Given the description of an element on the screen output the (x, y) to click on. 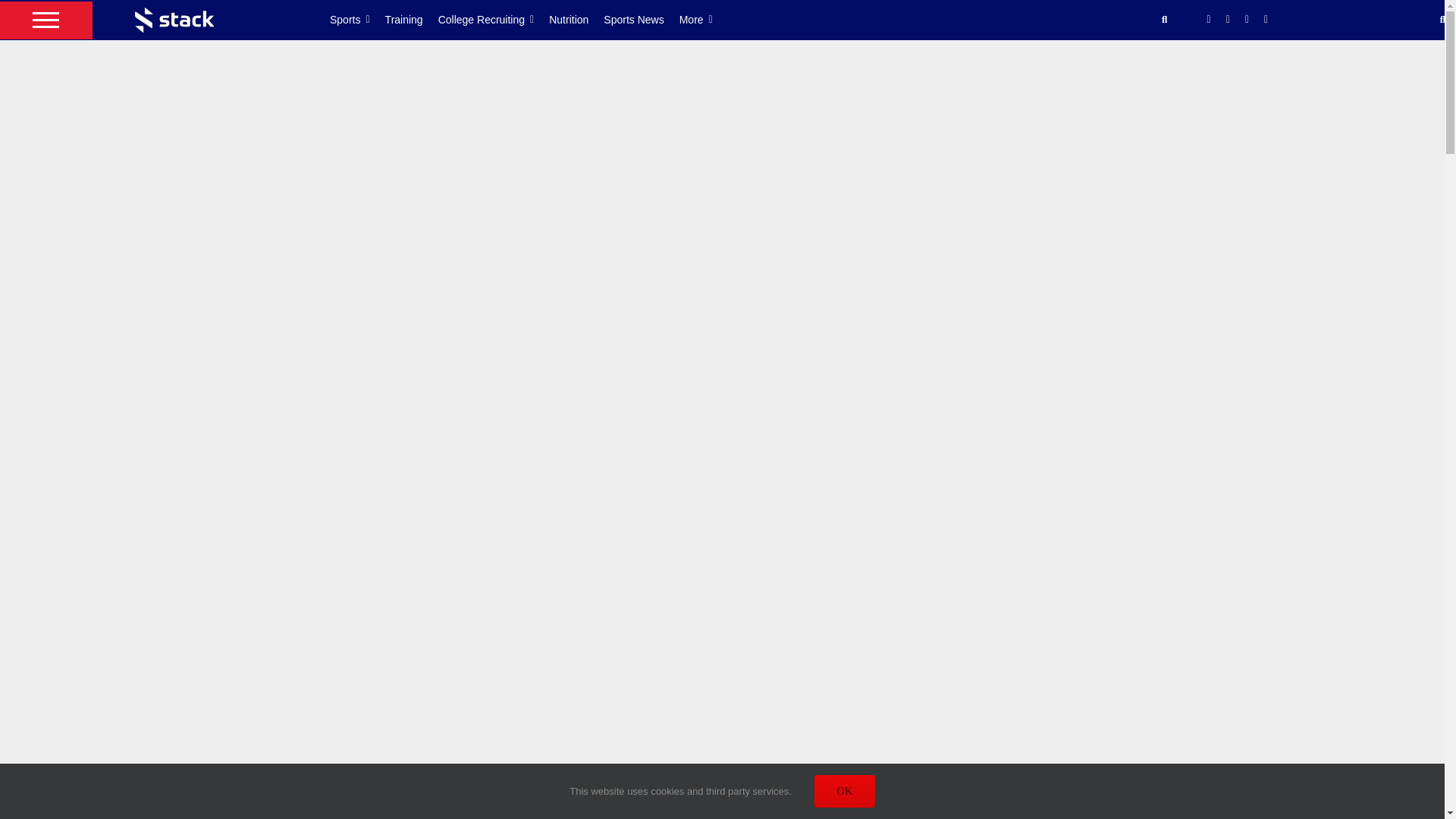
More (703, 19)
Nutrition (576, 19)
Training (411, 19)
Sports News (641, 19)
Sports (357, 19)
College Recruiting (494, 19)
